Given the description of an element on the screen output the (x, y) to click on. 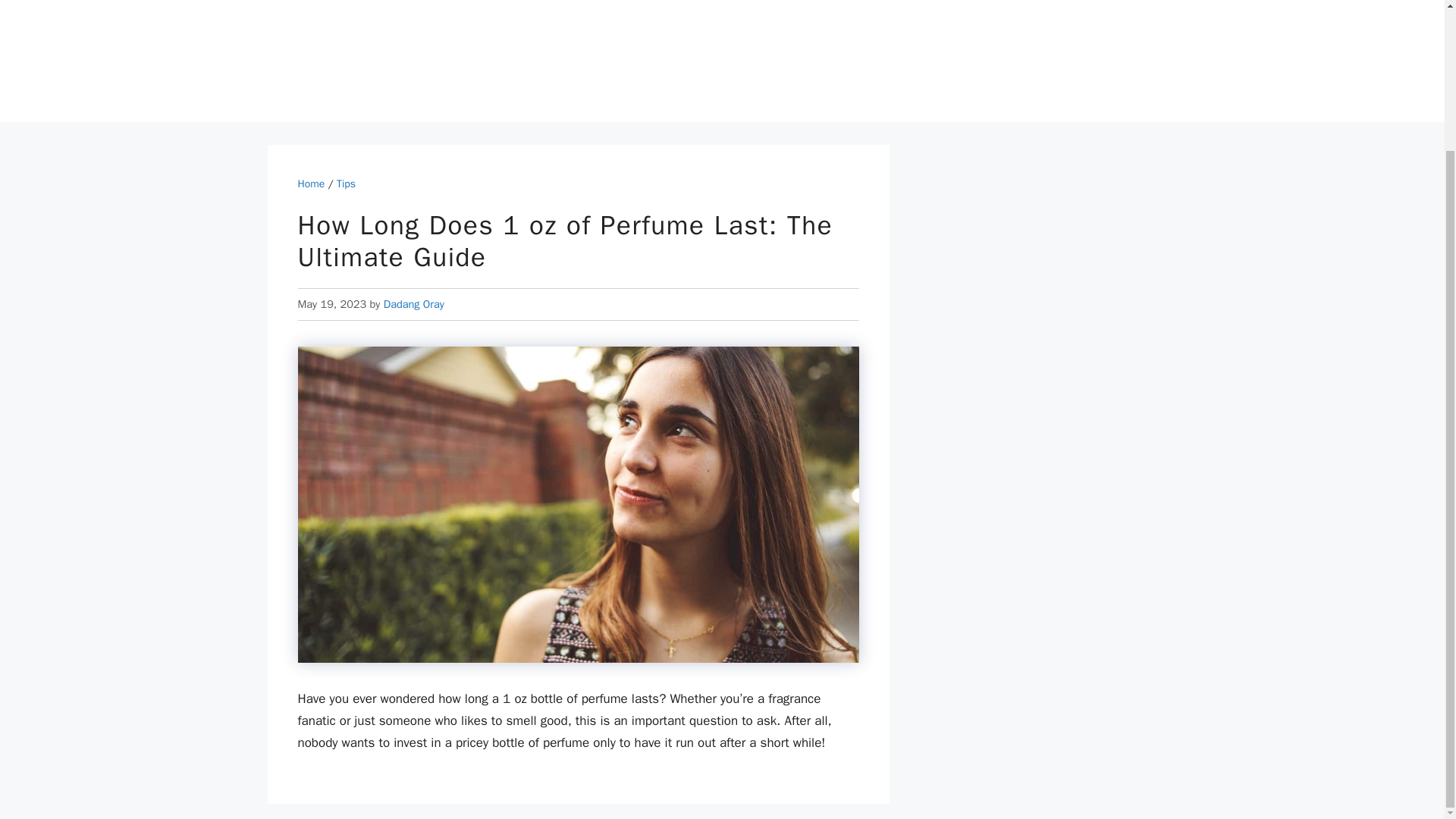
Home (310, 183)
Dadang Oray (414, 304)
View all posts by Dadang Oray (414, 304)
Tips (345, 183)
